Given the description of an element on the screen output the (x, y) to click on. 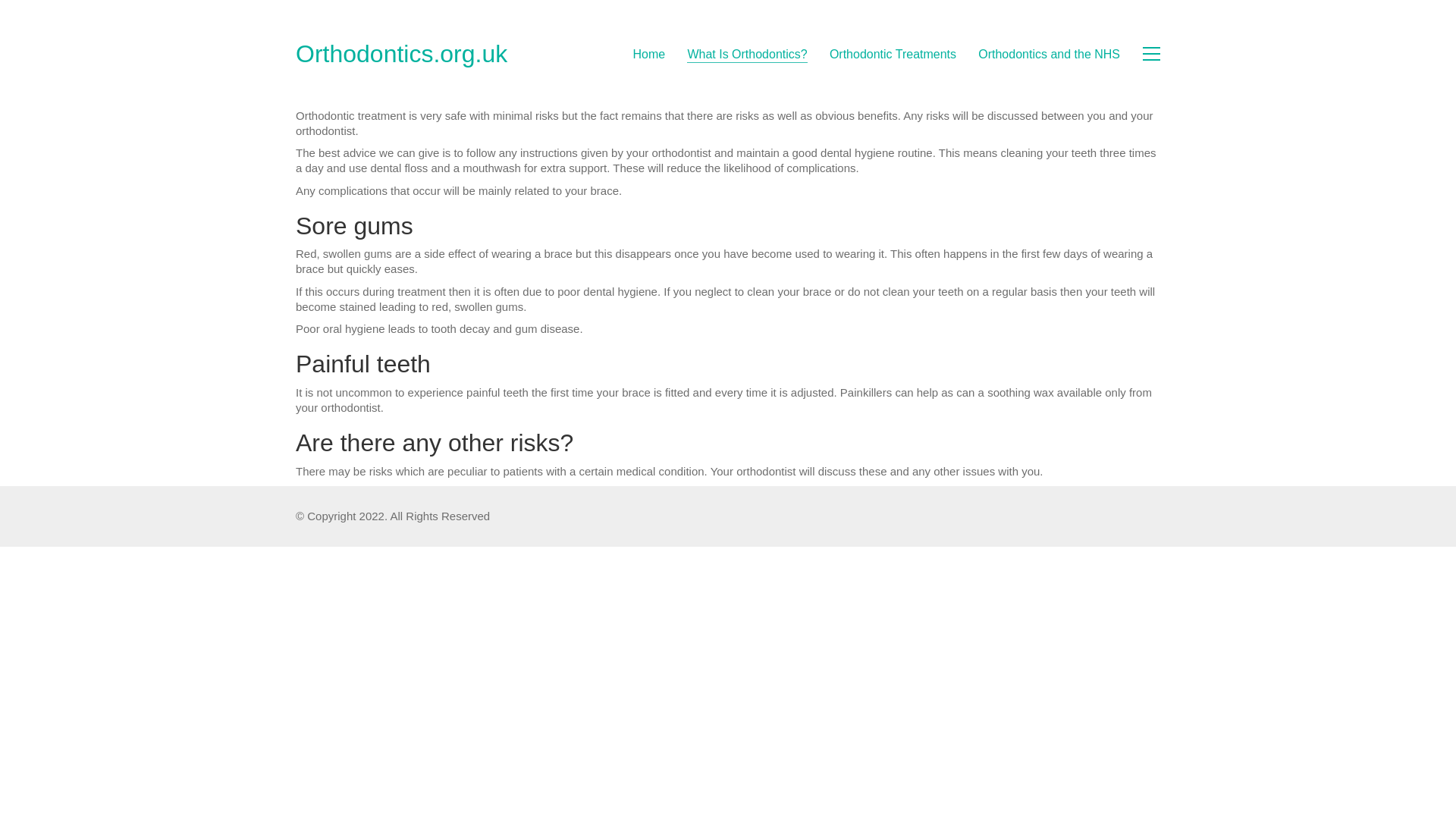
What Is Orthodontics? (746, 53)
Home (649, 53)
Orthodontics.org.uk (400, 53)
